Given the description of an element on the screen output the (x, y) to click on. 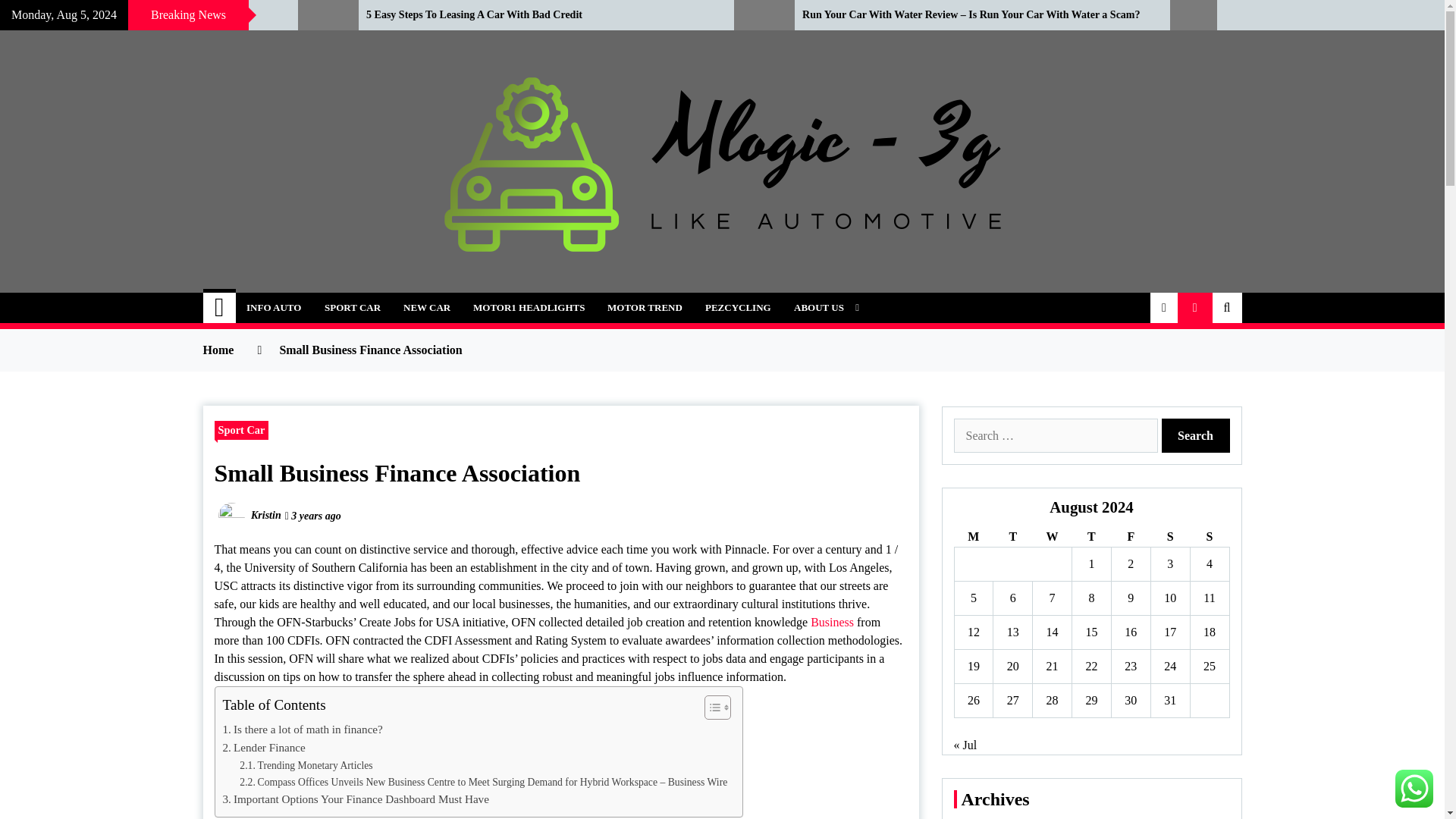
Trending Monetary Articles (306, 765)
Search (1195, 435)
Saturday (1169, 537)
Wednesday (1051, 537)
Sunday (1208, 537)
Thursday (1091, 537)
5 Easy Steps To Leasing A Car With Bad Credit (538, 15)
Home (219, 307)
Tuesday (1012, 537)
Monday (972, 537)
